Given the description of an element on the screen output the (x, y) to click on. 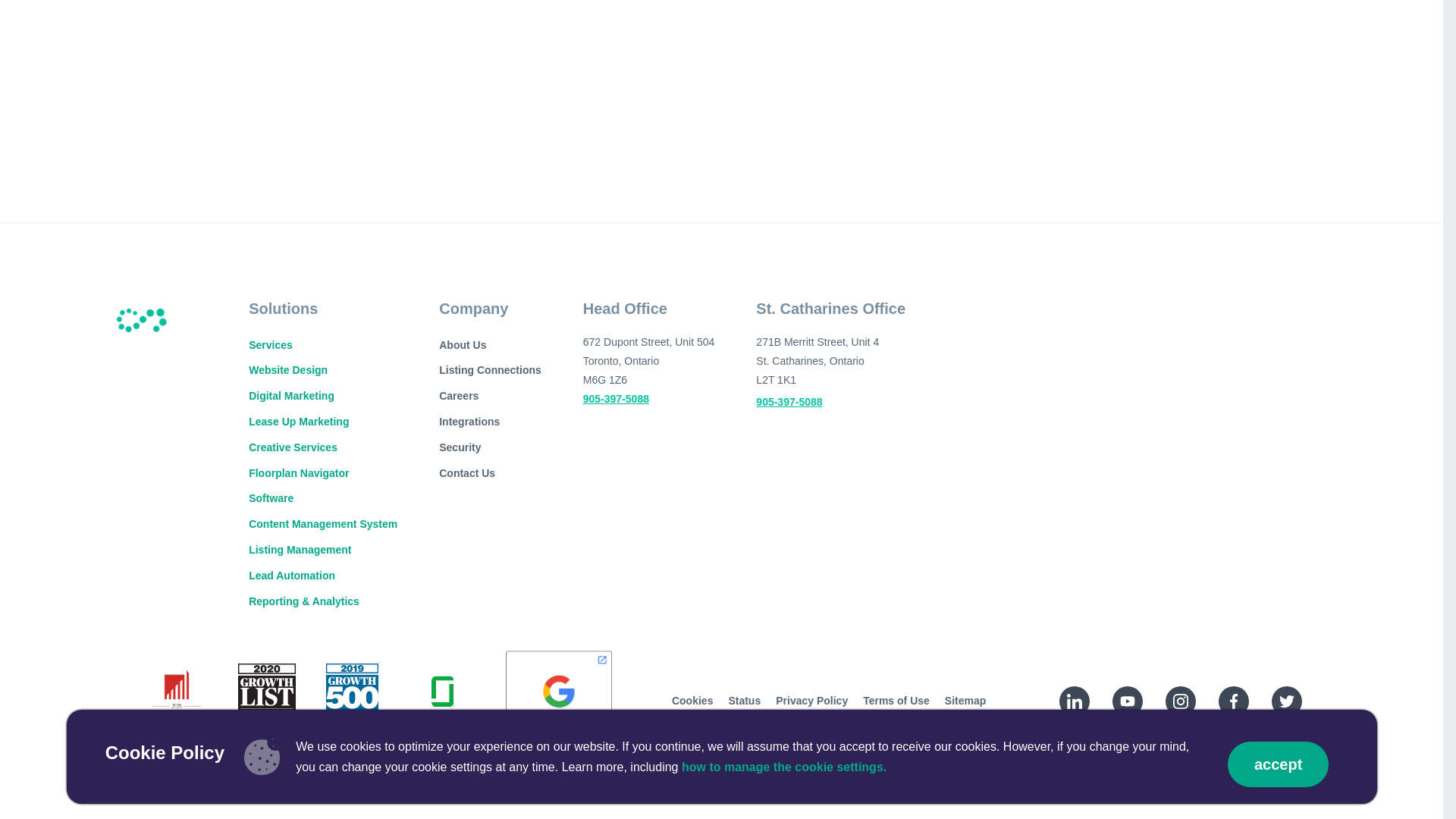
Rentsync Footer Logo (142, 316)
Glassdoor Jobs (442, 701)
